Given the description of an element on the screen output the (x, y) to click on. 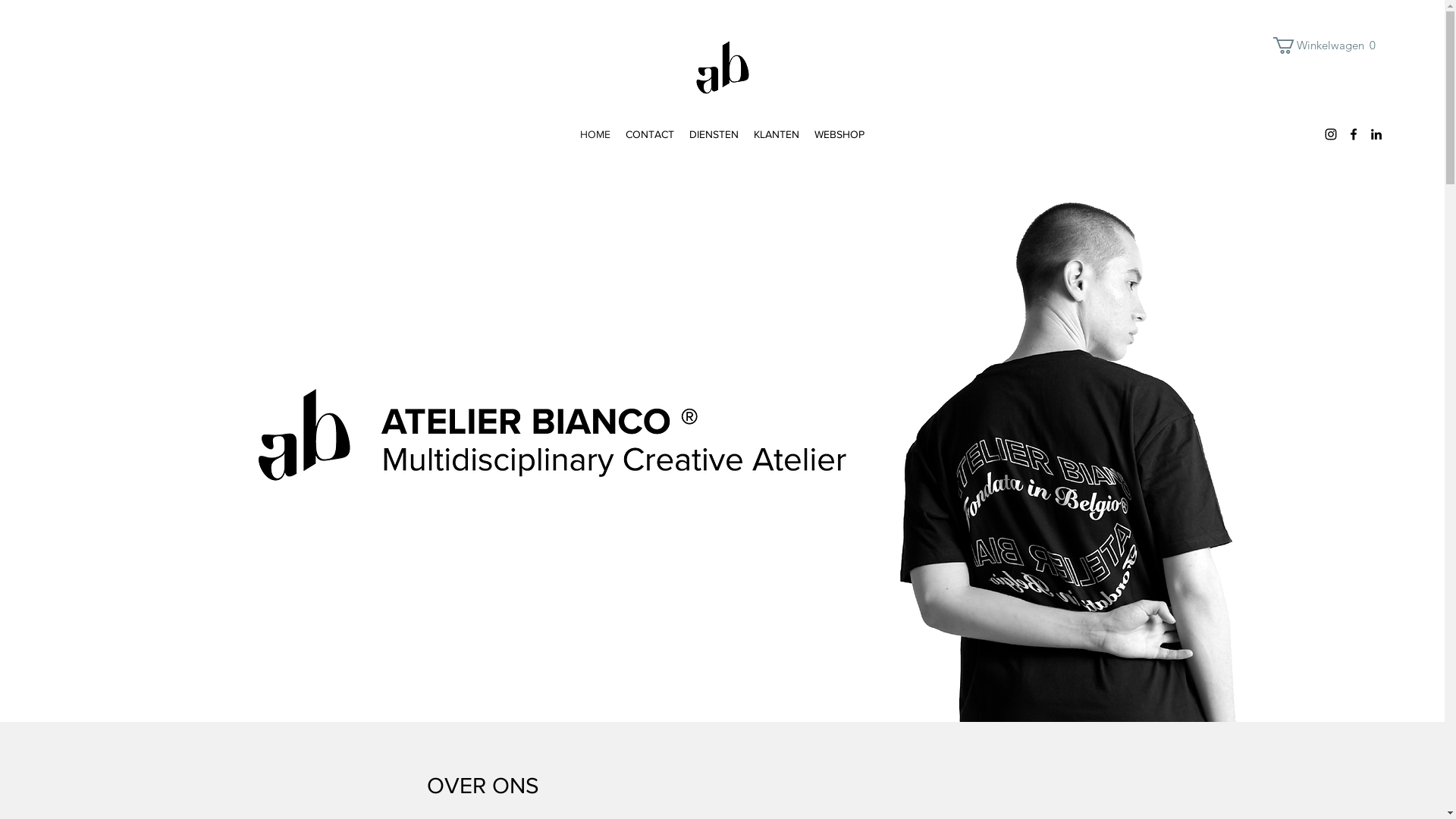
Winkelwagen
0 Element type: text (1328, 45)
DIENSTEN Element type: text (713, 133)
CONTACT Element type: text (649, 133)
HOME Element type: text (595, 133)
WEBSHOP Element type: text (839, 133)
KLANTEN Element type: text (776, 133)
